Given the description of an element on the screen output the (x, y) to click on. 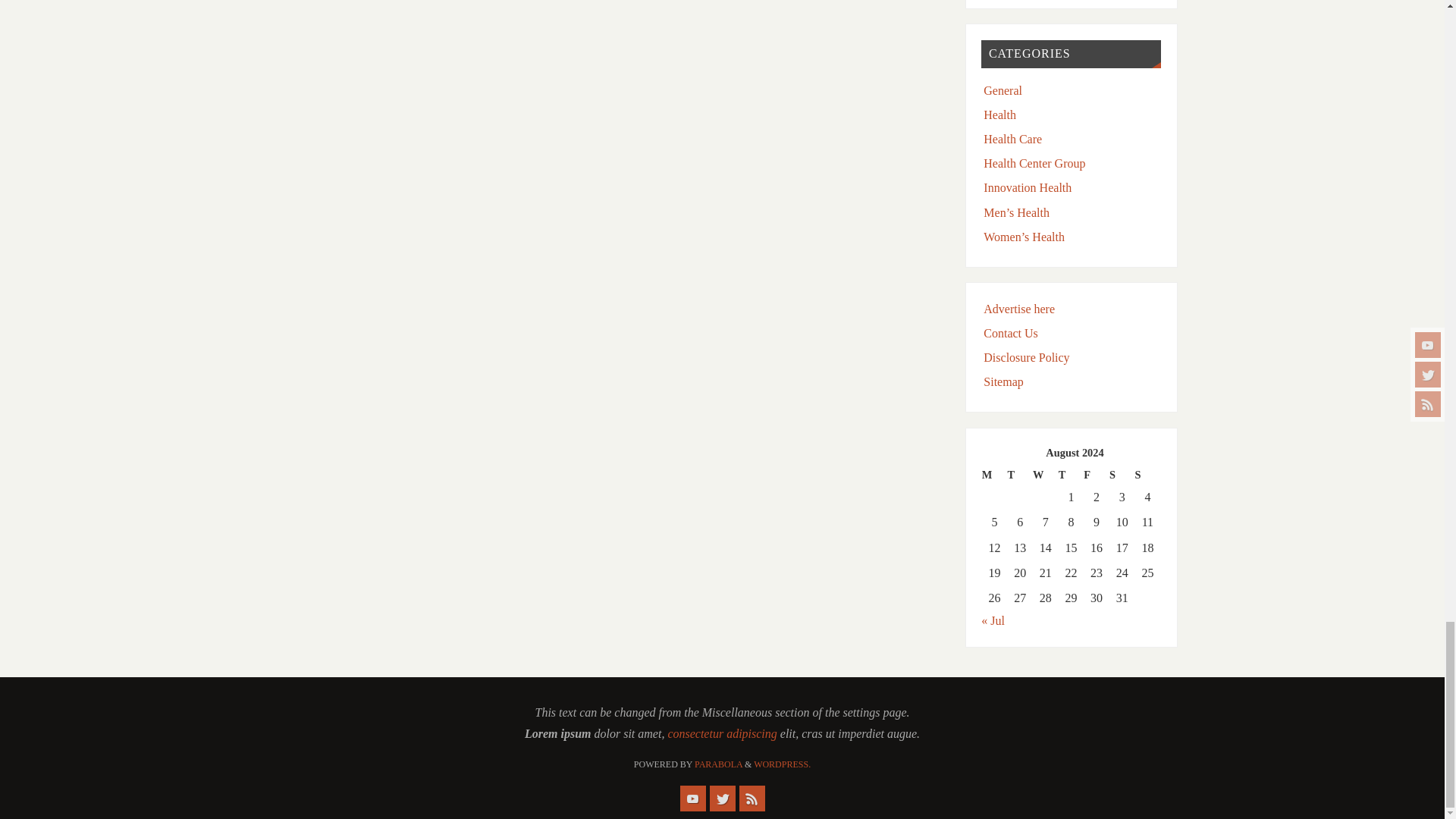
Saturday (1122, 475)
Sunday (1147, 475)
Friday (1096, 475)
Thursday (1071, 475)
Tuesday (1019, 475)
Parabola Theme by Cryout Creations (718, 764)
Monday (994, 475)
Wednesday (1045, 475)
